Given the description of an element on the screen output the (x, y) to click on. 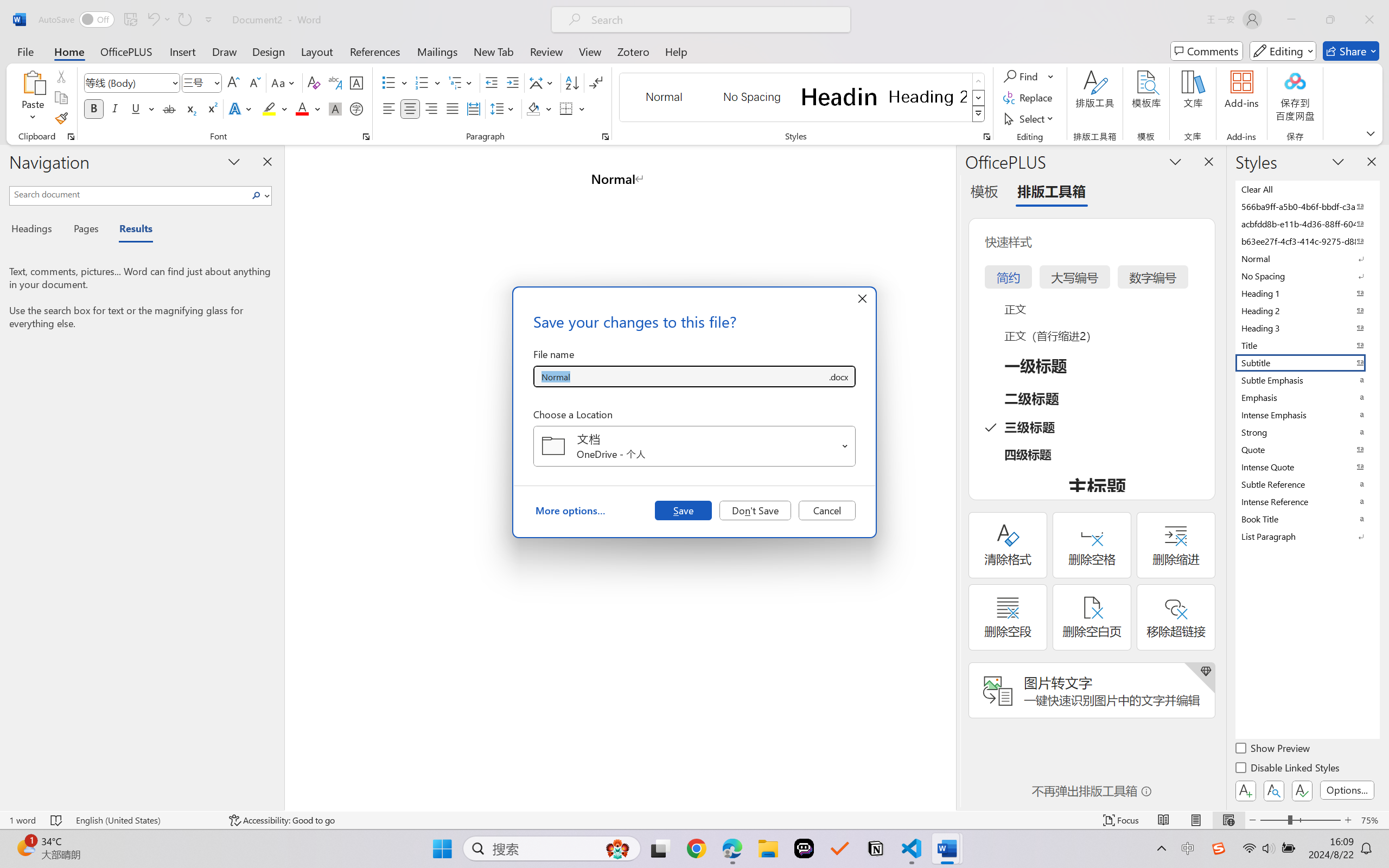
Distributed (473, 108)
Office Clipboard... (70, 136)
Paste (33, 97)
Subscript (190, 108)
Repeat Style (184, 19)
Draw (224, 51)
Mode (1283, 50)
Comments (1206, 50)
Font (126, 82)
Intense Reference (1306, 501)
